Given the description of an element on the screen output the (x, y) to click on. 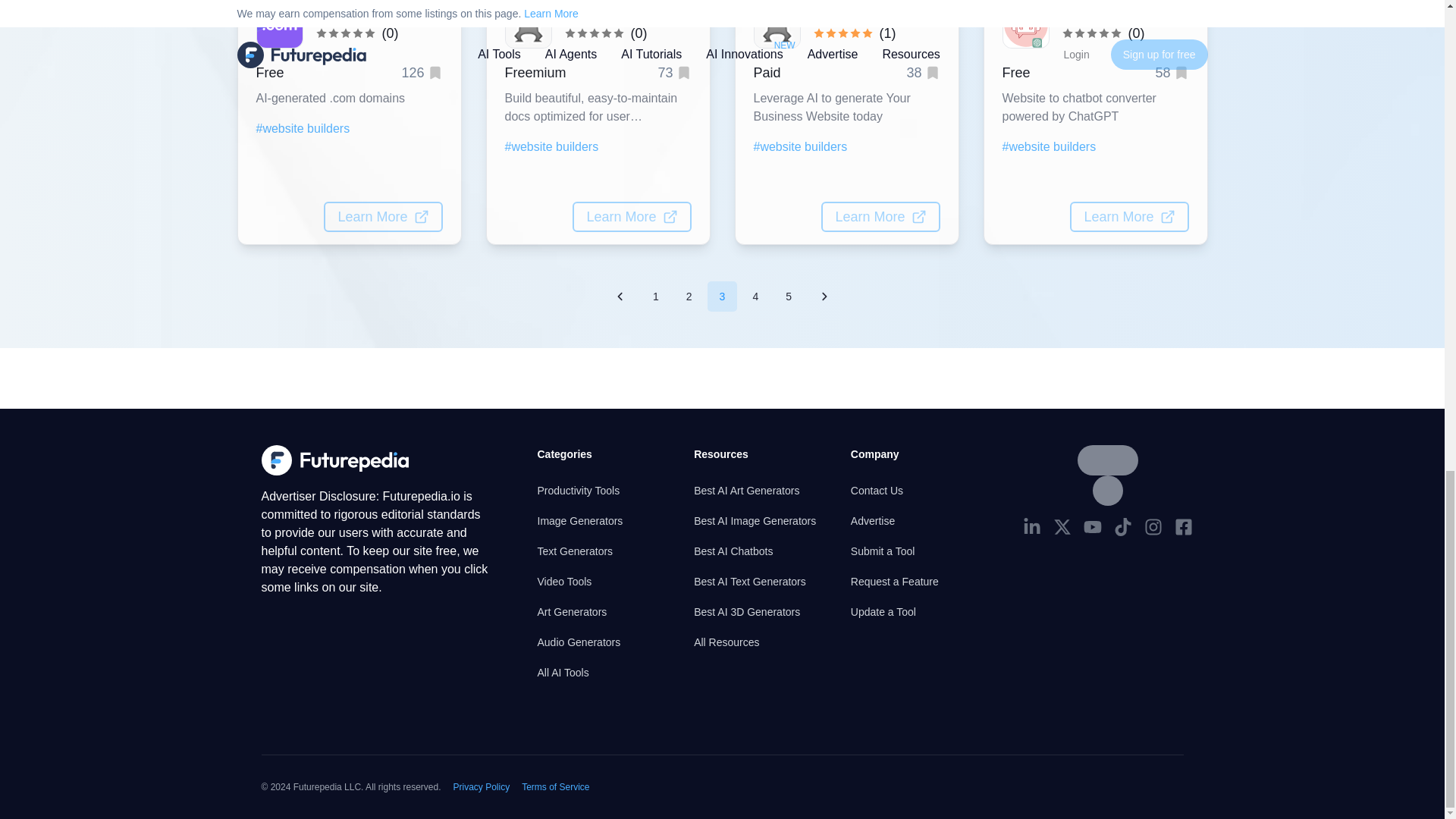
4 (754, 296)
1 (655, 296)
Previous (619, 296)
5 (788, 296)
2 (689, 296)
Next (823, 296)
3 (722, 296)
